Given the description of an element on the screen output the (x, y) to click on. 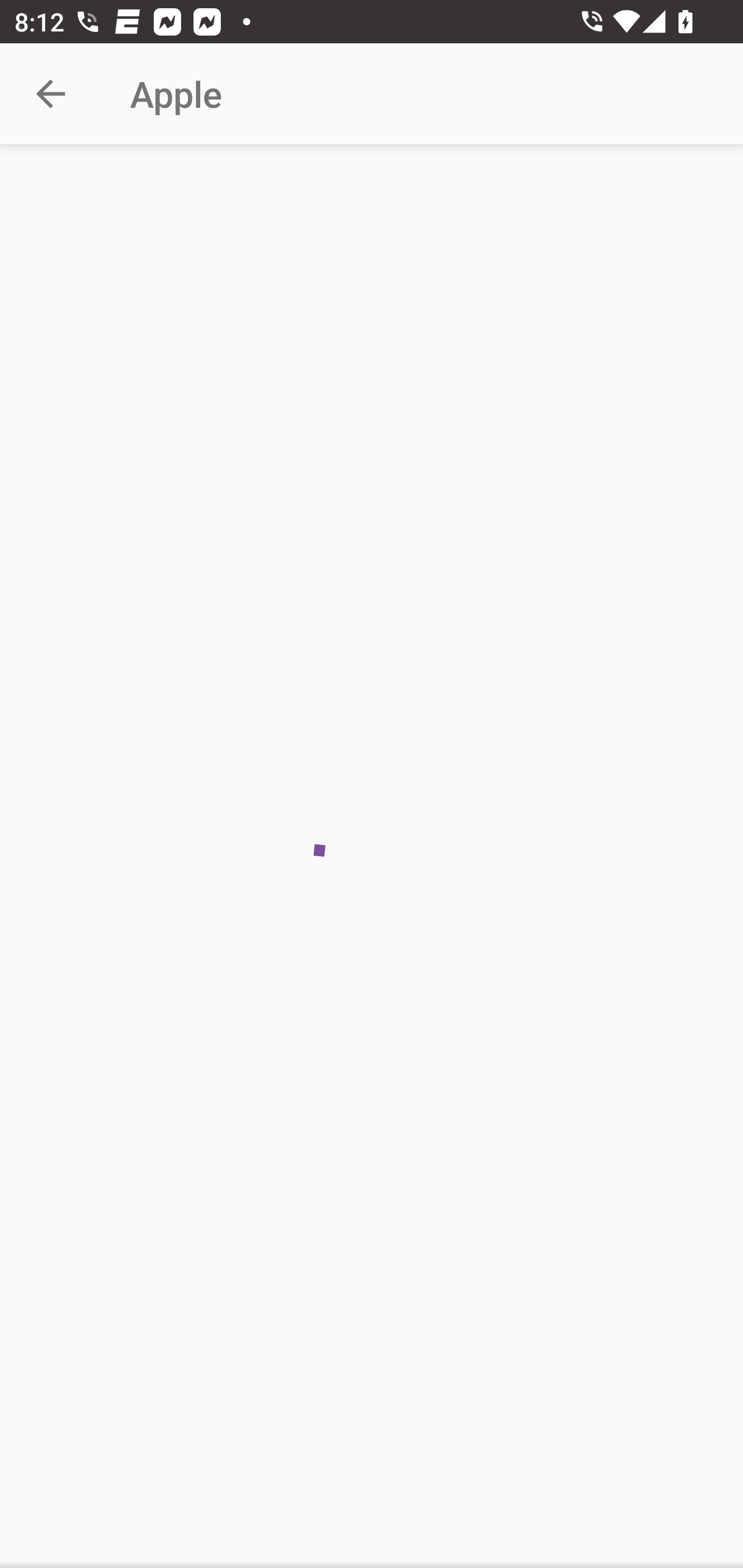
Navigate up (50, 93)
